Given the description of an element on the screen output the (x, y) to click on. 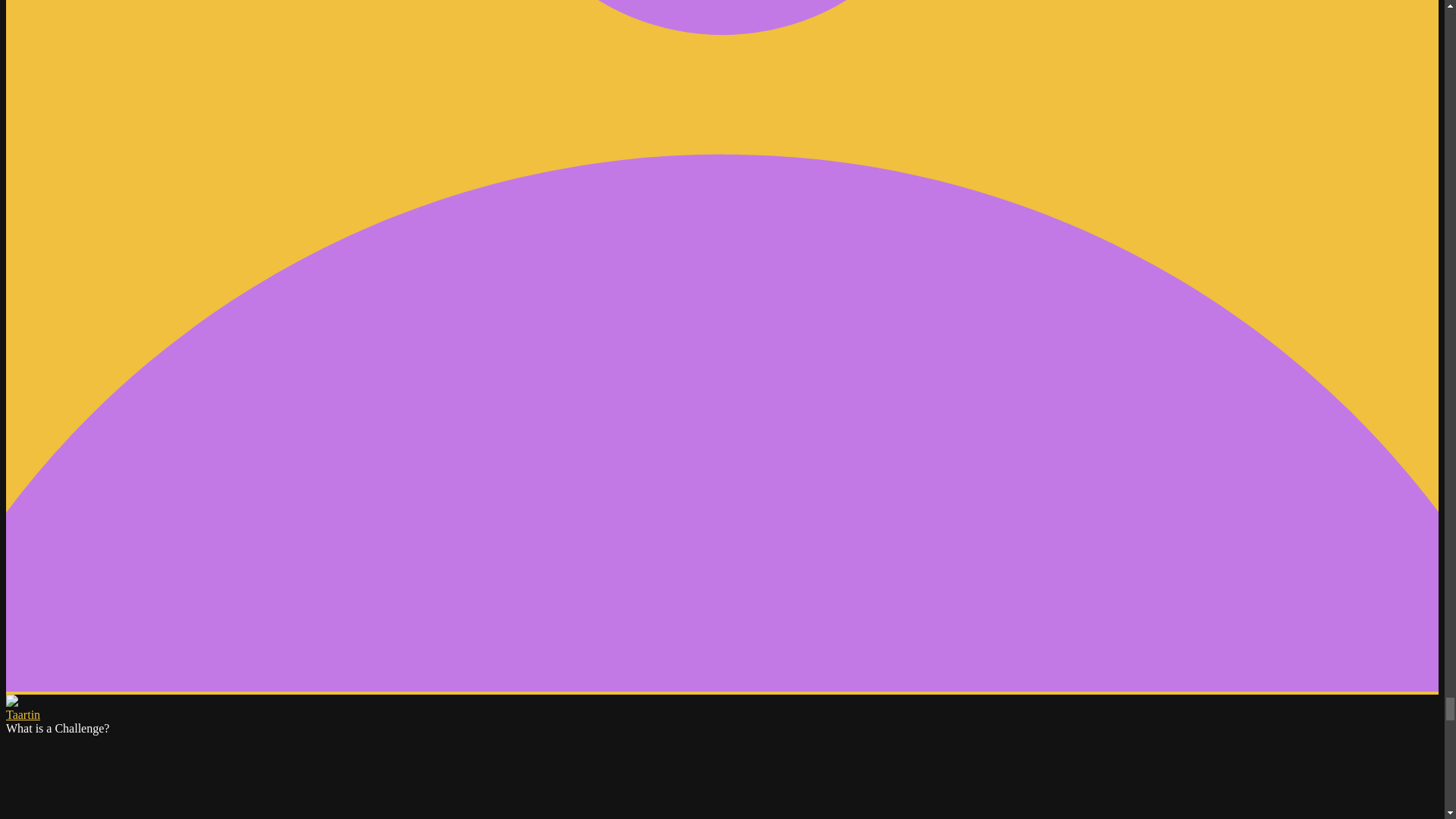
Taartin (22, 714)
